Given the description of an element on the screen output the (x, y) to click on. 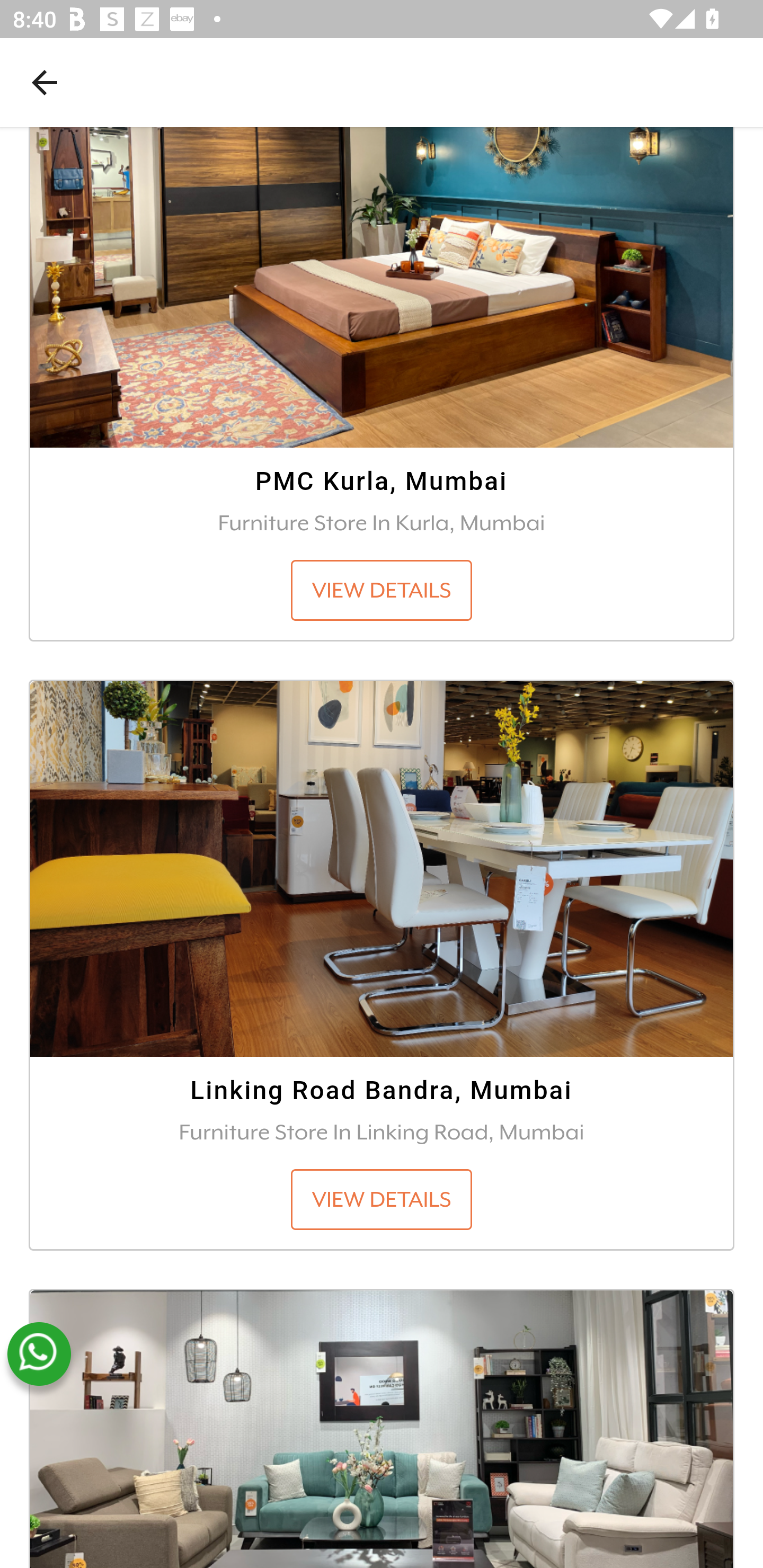
Navigate up (44, 82)
VIEW DETAILS (381, 590)
VIEW DETAILS (381, 1199)
whatsapp (38, 1354)
